Given the description of an element on the screen output the (x, y) to click on. 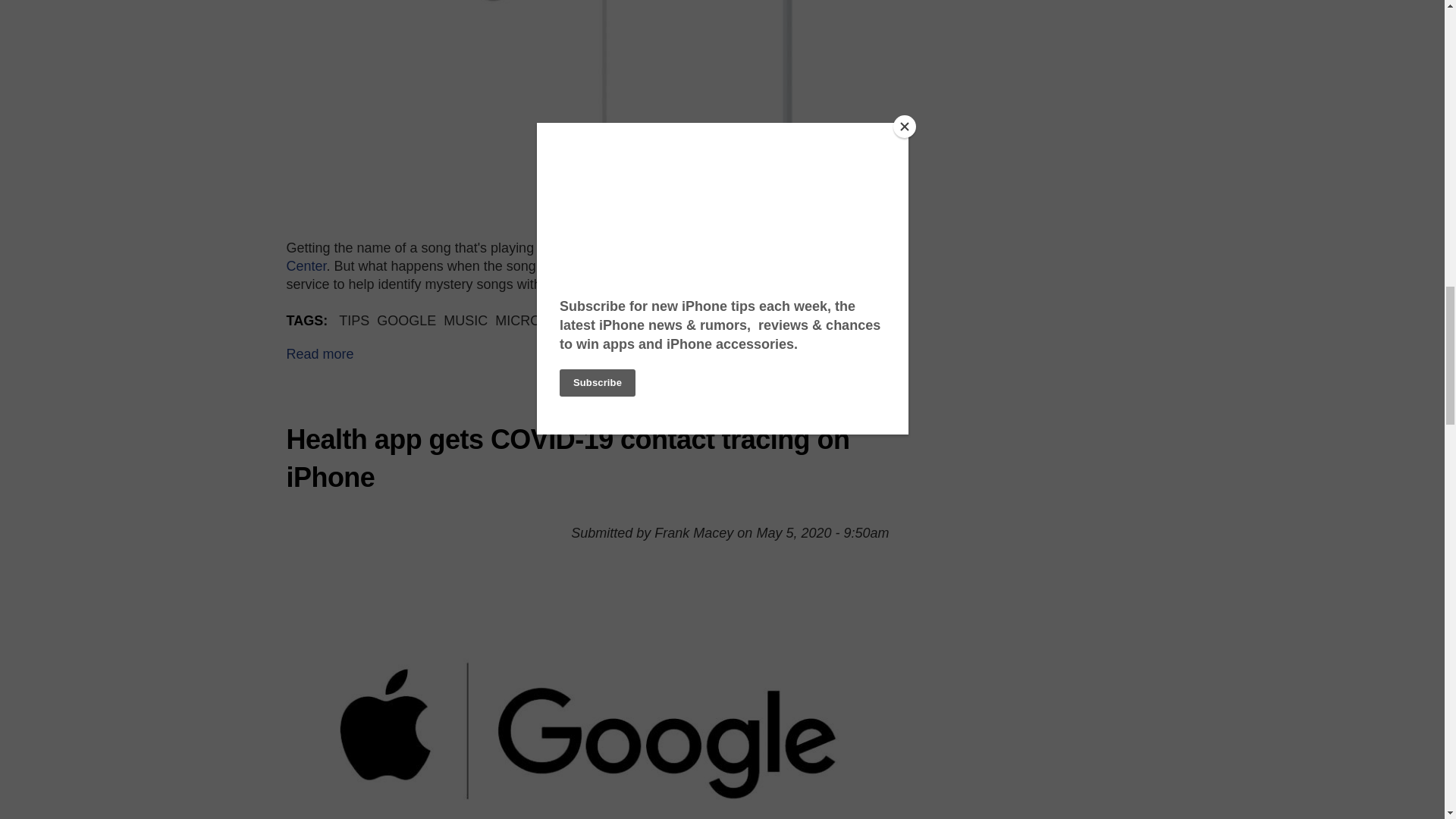
Health app gets COVID-19 contact tracing on iPhone (568, 458)
GOOGLE (406, 320)
launching Shazam from the Control Center (576, 256)
MICROPHONE (542, 320)
How to search for a song with a hum or whistle (319, 353)
Google song search (587, 108)
MUSIC (465, 320)
TIPS (354, 320)
